Given the description of an element on the screen output the (x, y) to click on. 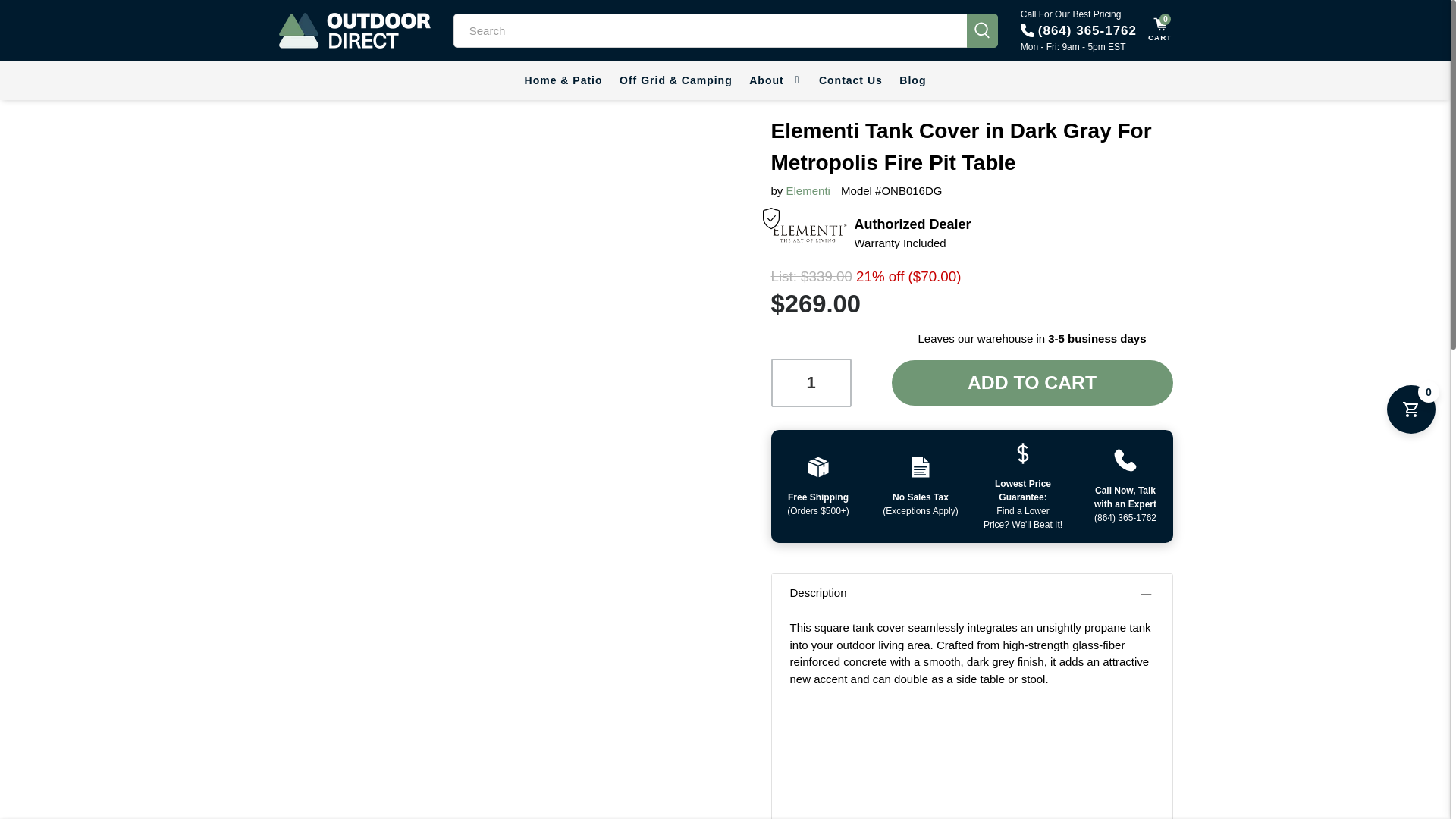
1 (809, 382)
Contact Us (850, 80)
Outdoor Direct (354, 30)
About (775, 80)
Blog (912, 80)
Elementi (807, 190)
